Given the description of an element on the screen output the (x, y) to click on. 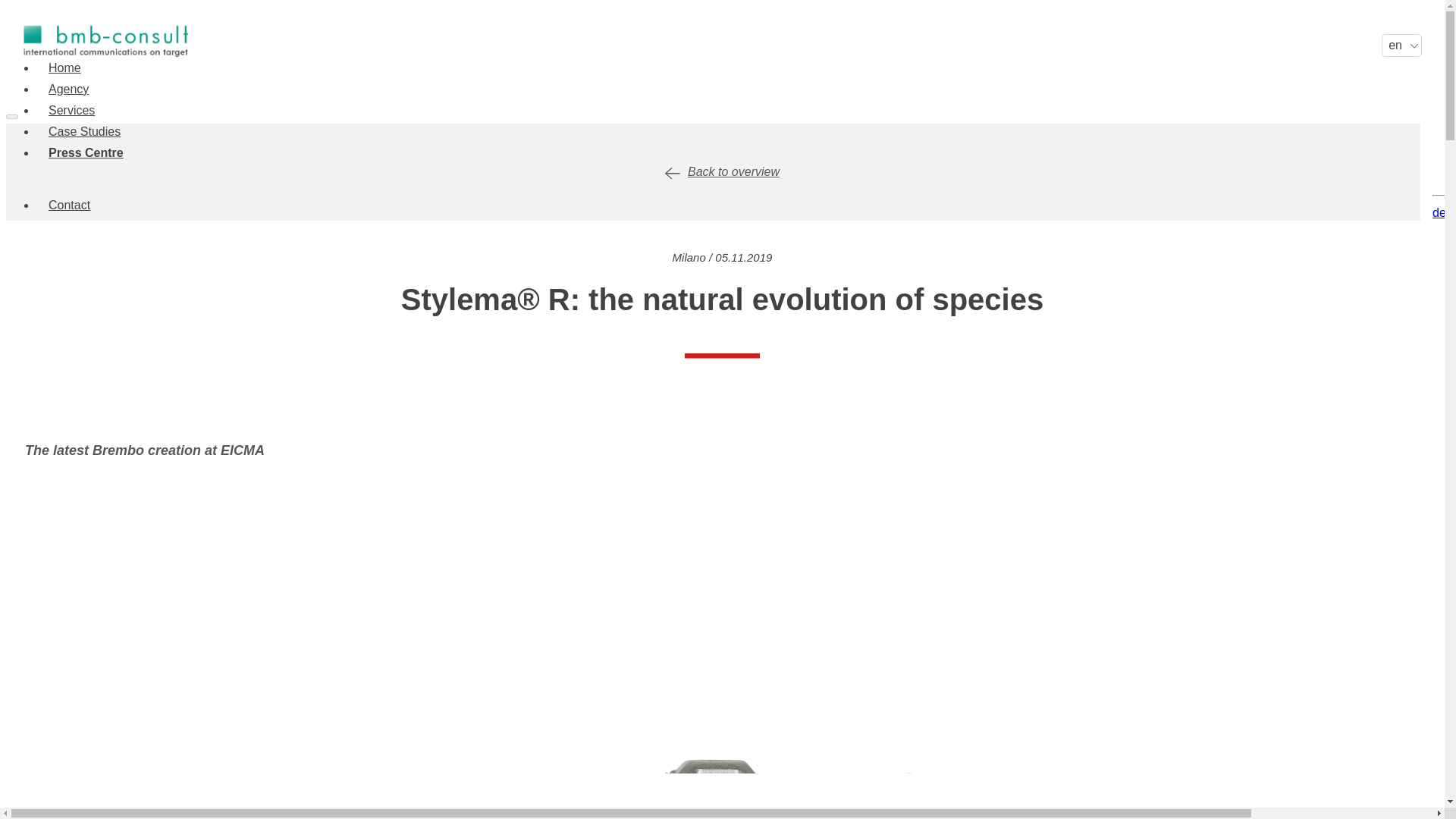
Back to overview (721, 171)
Contact (68, 205)
Brembo (722, 373)
Services (70, 110)
Home (64, 67)
Agency (68, 88)
Case Studies (84, 131)
